Given the description of an element on the screen output the (x, y) to click on. 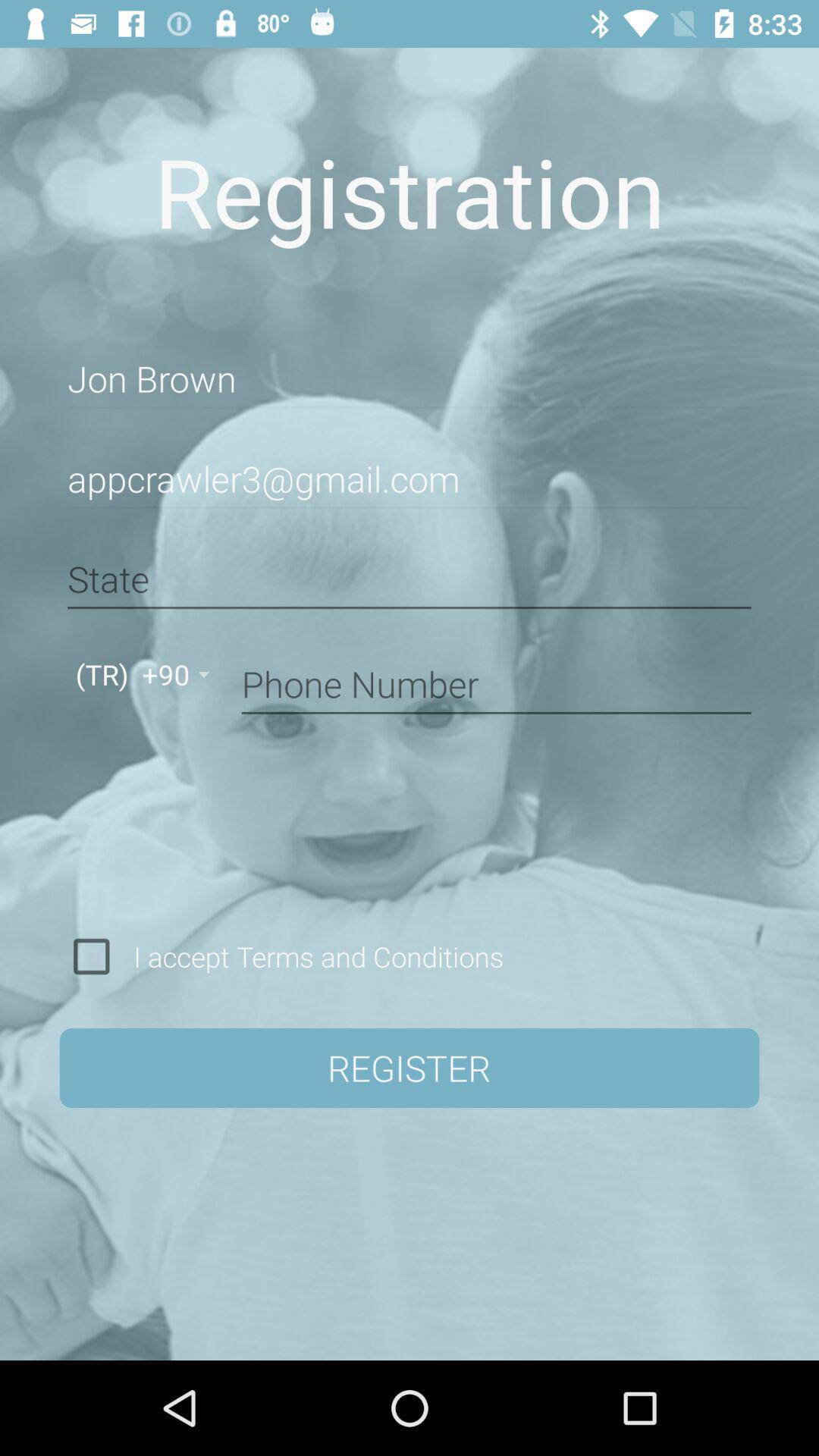
turn on the jon brown icon (409, 379)
